Given the description of an element on the screen output the (x, y) to click on. 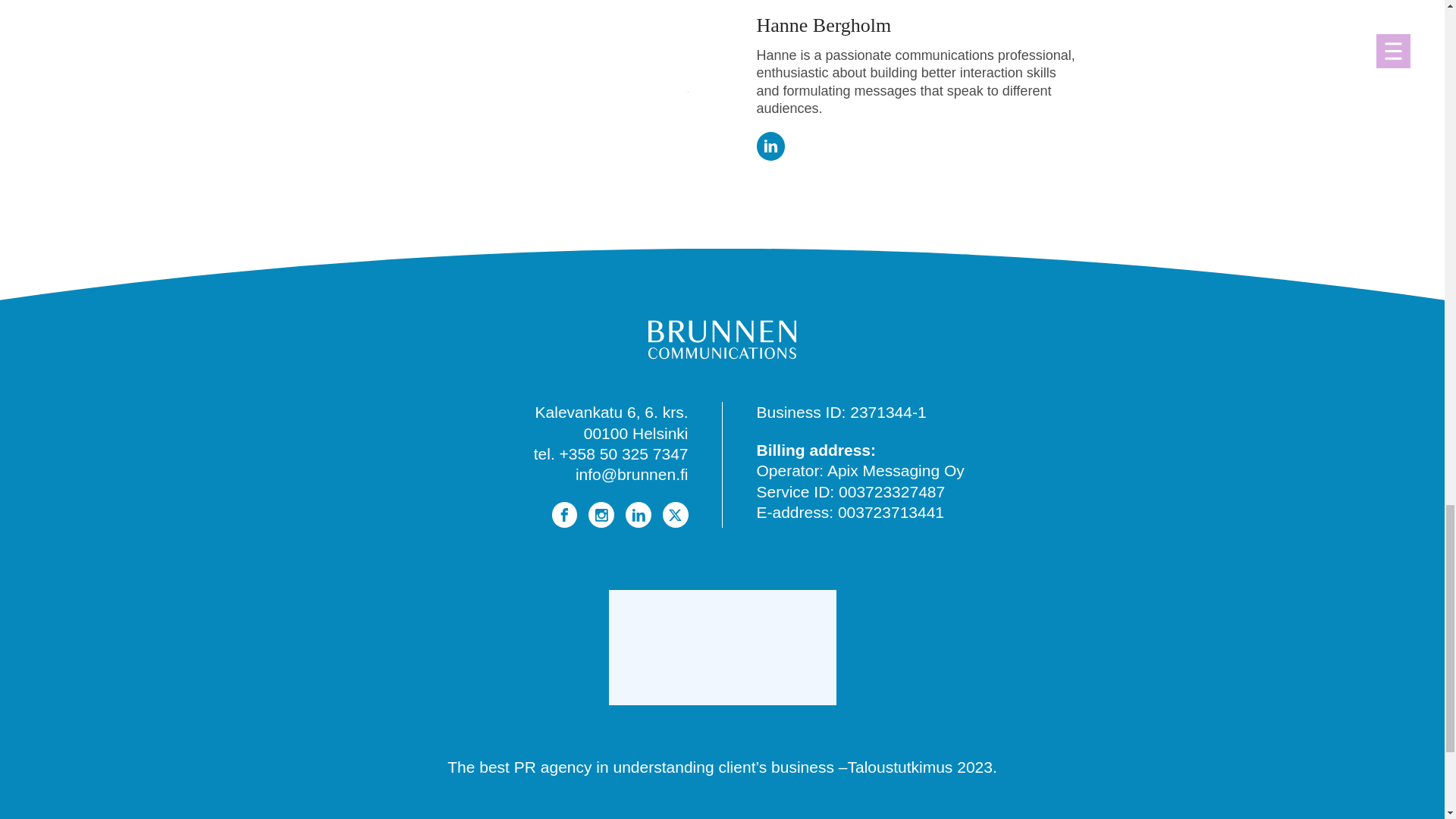
00100 Helsinki (635, 433)
Kalevankatu 6, 6. krs. (611, 411)
